Given the description of an element on the screen output the (x, y) to click on. 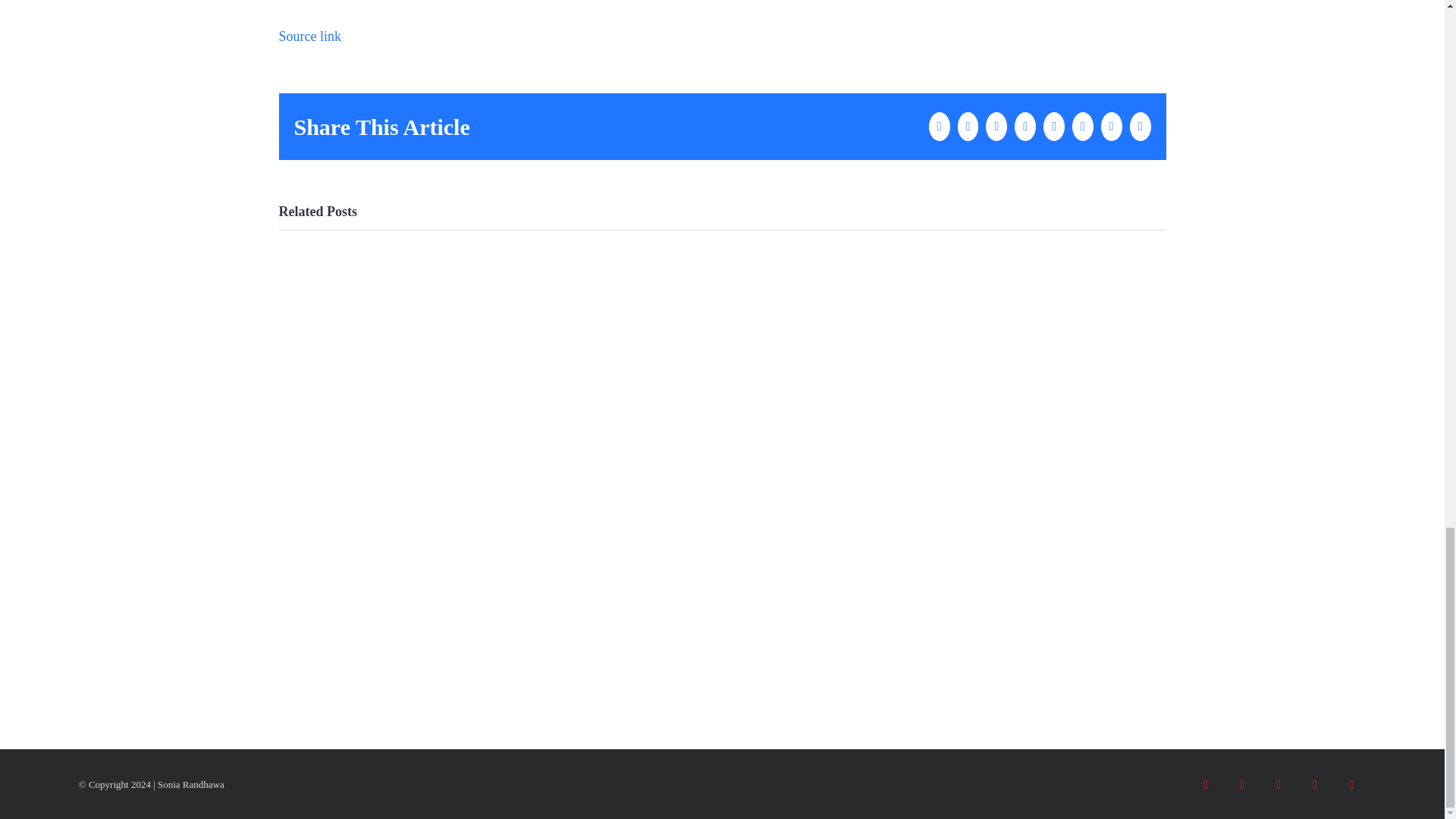
Pinterest (1350, 784)
Instagram (1277, 784)
Facebook (1205, 784)
Twitter (1241, 784)
Twitter (1241, 784)
Facebook (1205, 784)
LinkedIn (1314, 784)
LinkedIn (1314, 784)
Source link (310, 36)
Instagram (1277, 784)
